Given the description of an element on the screen output the (x, y) to click on. 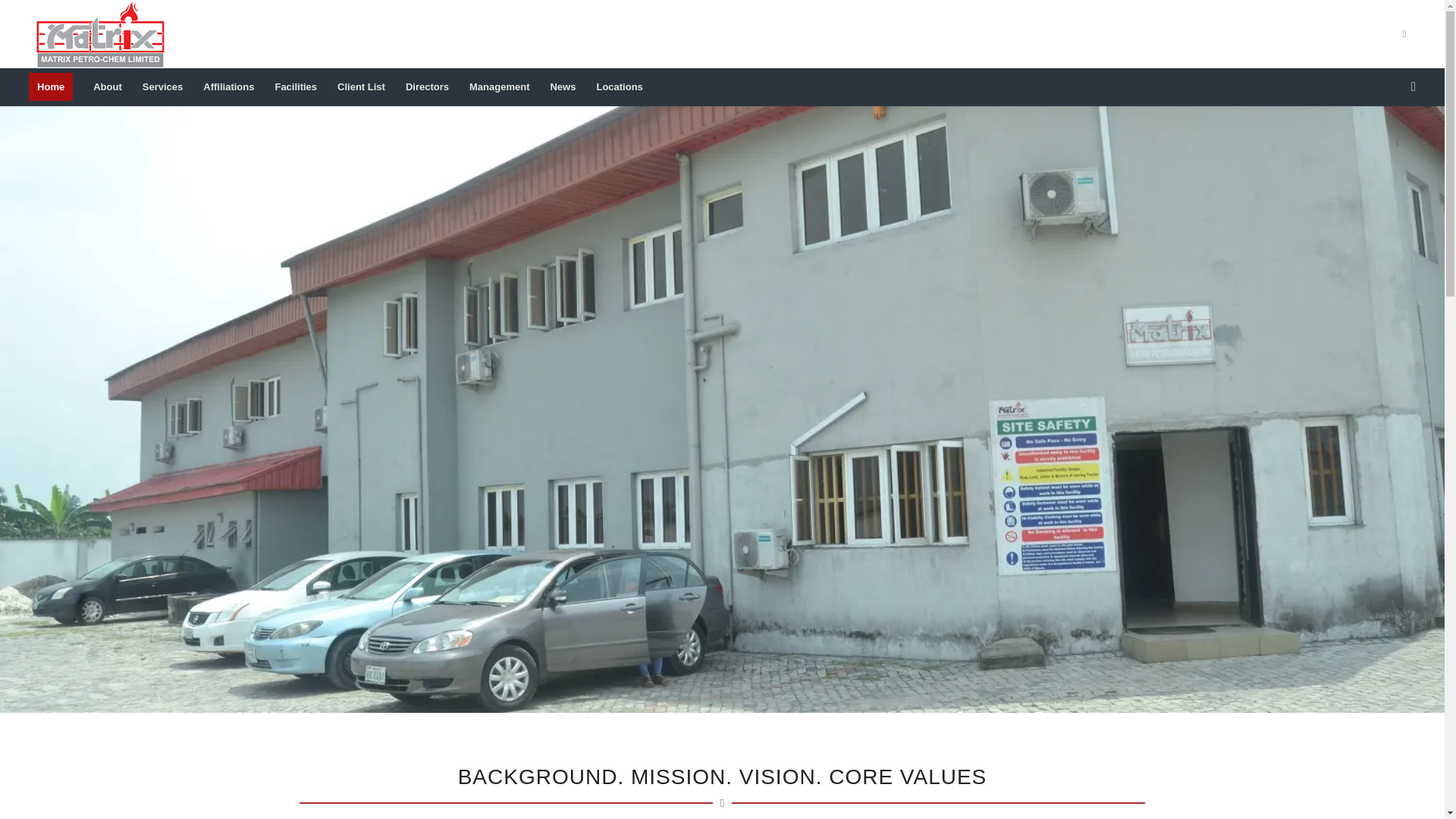
MATRIX PETROCHEM logo-x1 (103, 33)
News (561, 86)
Locations (618, 86)
About (107, 86)
Client List (360, 86)
Home (55, 86)
Facilities (294, 86)
Affiliations (227, 86)
Services (162, 86)
Directors (426, 86)
